Given the description of an element on the screen output the (x, y) to click on. 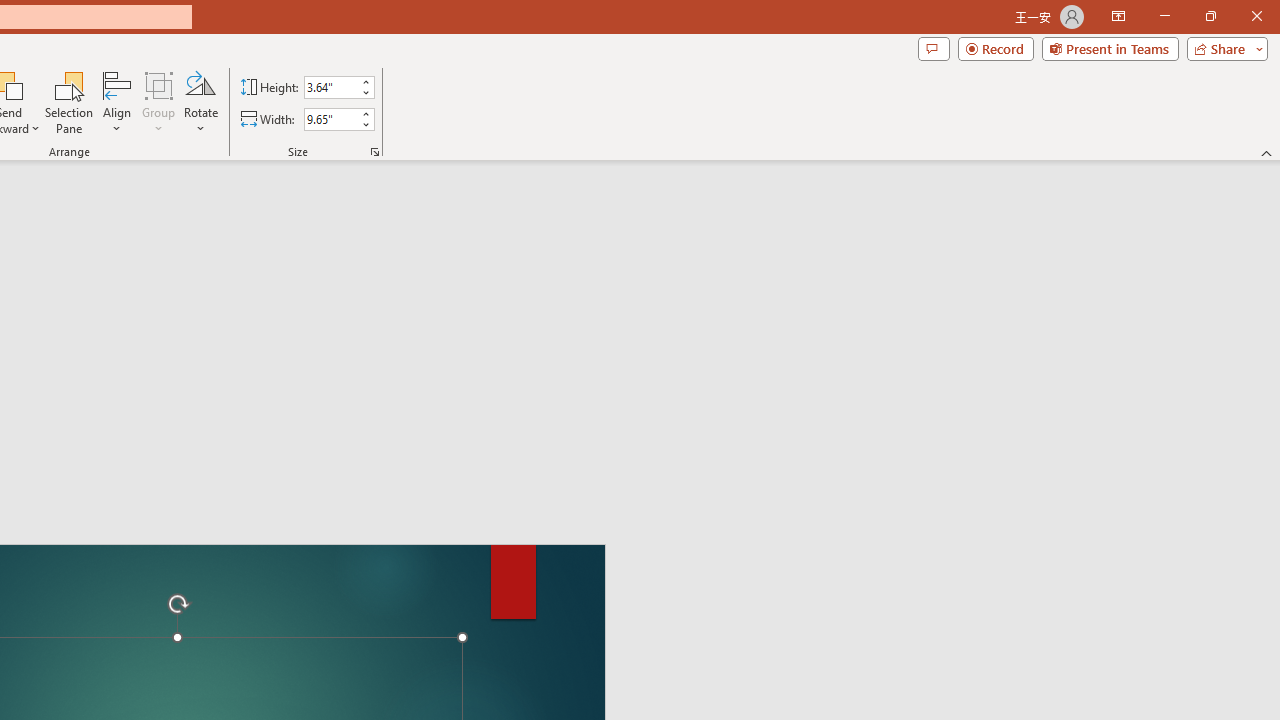
Align (117, 102)
Selection Pane... (69, 102)
Rotate (200, 102)
Shape Width (330, 119)
Size and Position... (374, 151)
